Given the description of an element on the screen output the (x, y) to click on. 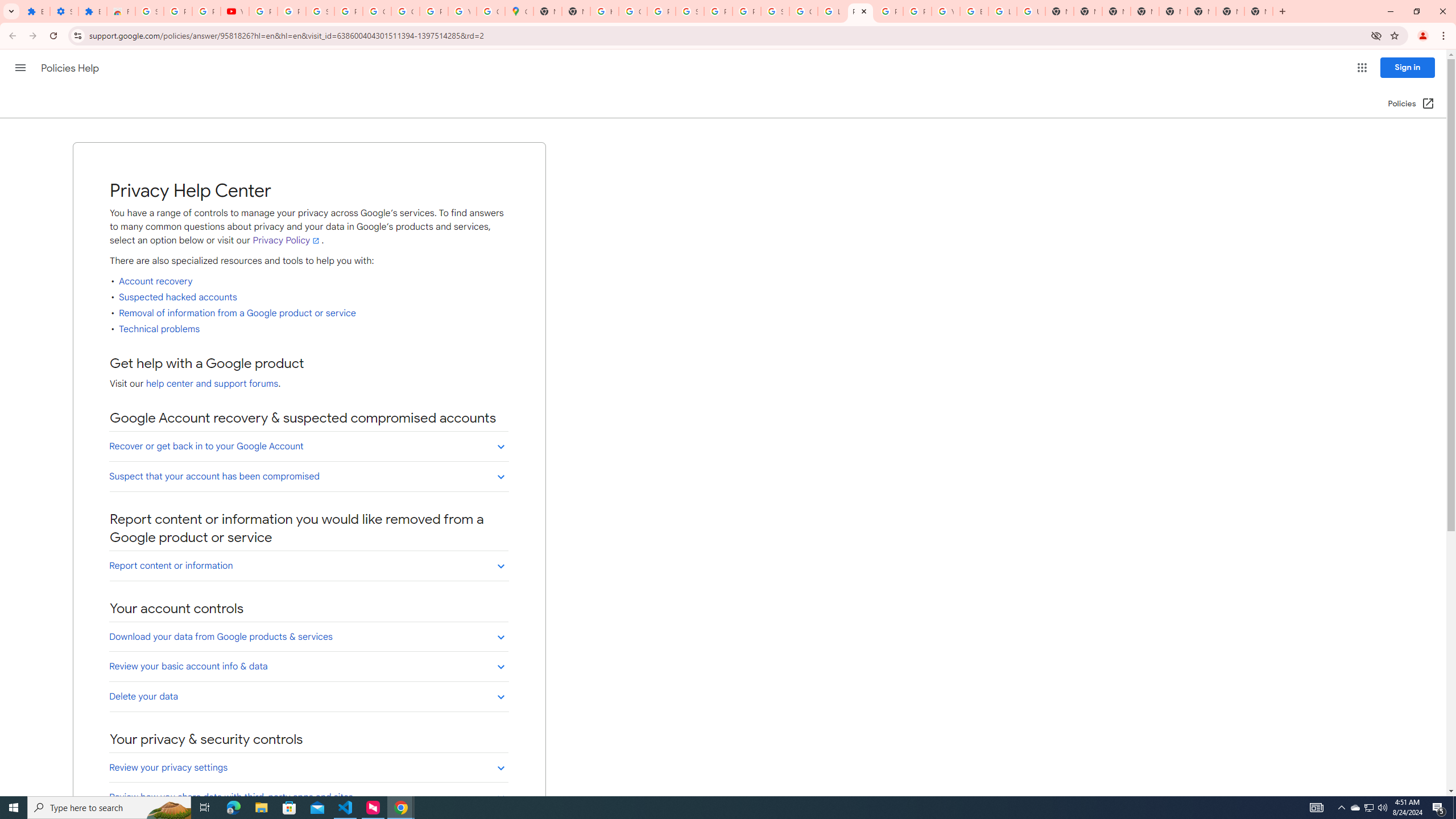
https://scholar.google.com/ (604, 11)
YouTube (461, 11)
Privacy Help Center - Policies Help (860, 11)
Review your privacy settings (308, 767)
Removal of information from a Google product or service (237, 313)
Review your basic account info & data (308, 666)
New Tab (1116, 11)
